Given the description of an element on the screen output the (x, y) to click on. 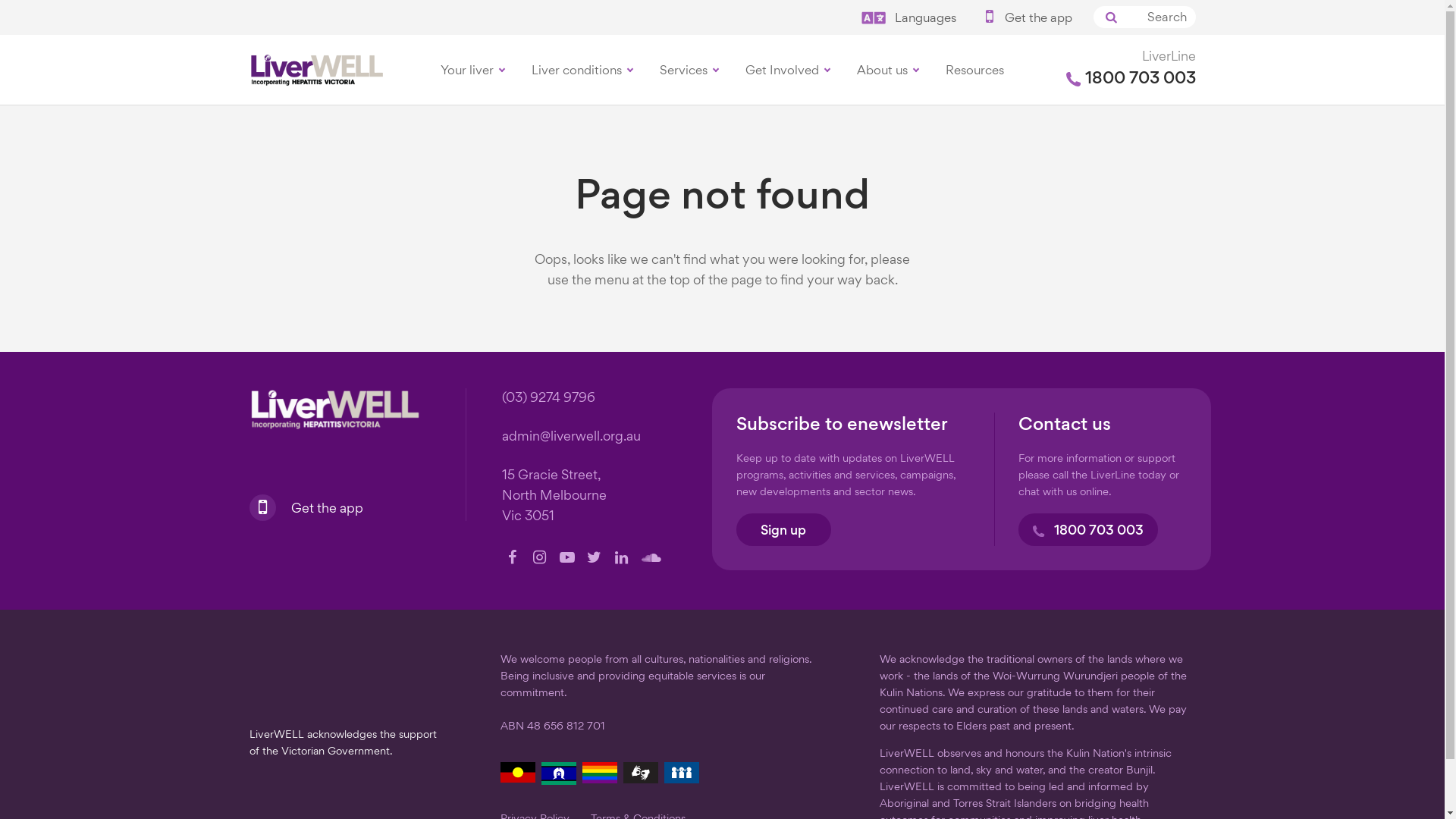
1800 703 003 Element type: text (1130, 79)
Languages Element type: text (910, 18)
LiverWELL Element type: hover (315, 69)
About us Element type: text (887, 69)
Get the app Element type: text (1026, 18)
Resources Element type: text (974, 69)
Your liver Element type: text (472, 69)
Services Element type: text (688, 69)
Sign up Element type: text (782, 529)
LiverWELL Element type: hover (334, 409)
Get the app Element type: text (311, 505)
(03) 9274 9796 Element type: text (548, 398)
1800 703 003 Element type: text (1087, 529)
Get Involved Element type: text (787, 69)
admin@liverwell.org.au Element type: text (571, 436)
15 Gracie Street,
North Melbourne
Vic 3051 Element type: text (554, 496)
Liver conditions Element type: text (581, 69)
